Given the description of an element on the screen output the (x, y) to click on. 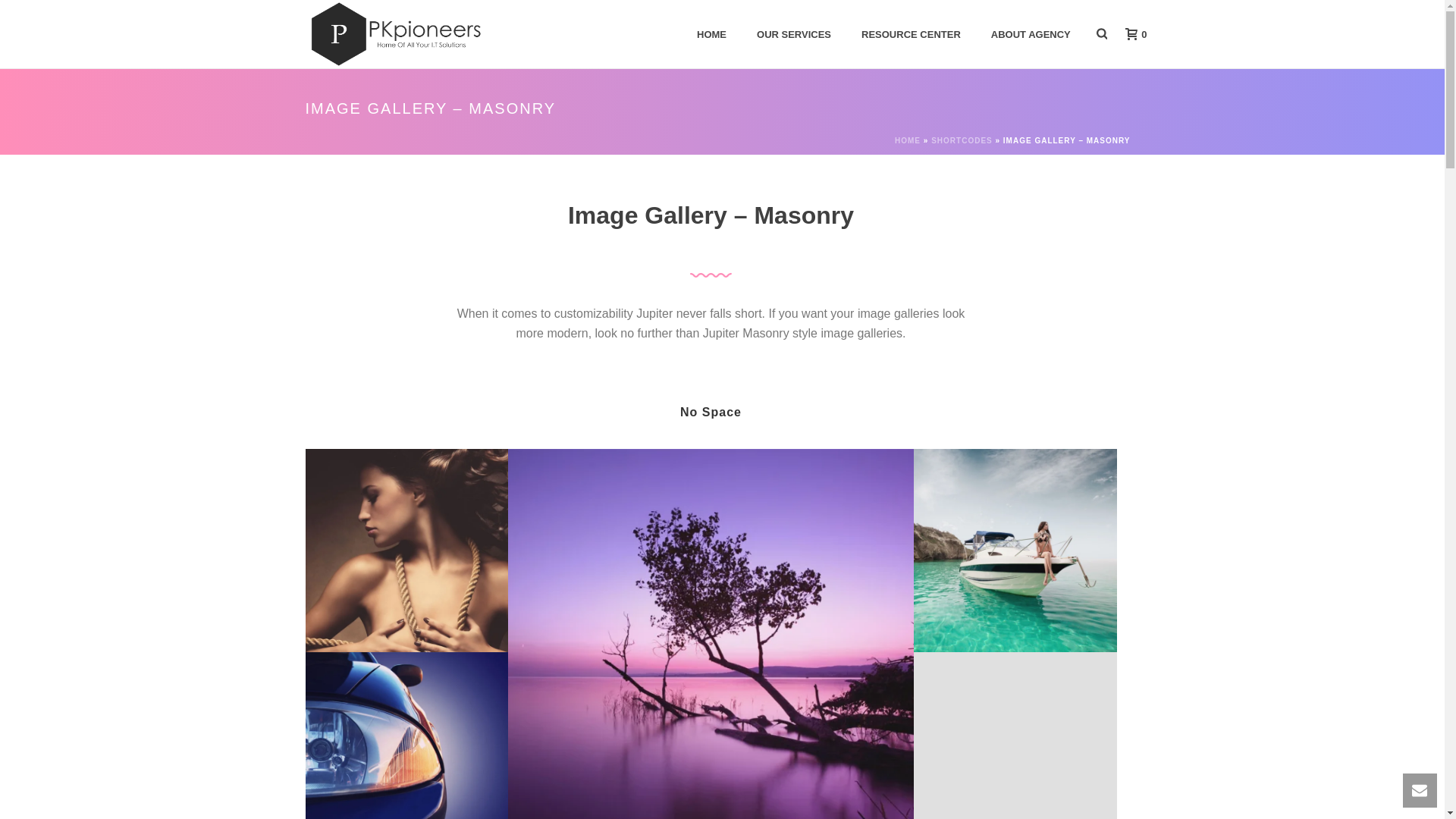
SHORTCODES (961, 140)
RESOURCE CENTER (910, 34)
RESOURCE CENTER (910, 34)
OUR SERVICES (793, 34)
HOME (711, 34)
HOME (907, 140)
ABOUT AGENCY (1030, 34)
OUR SERVICES (793, 34)
HOME (711, 34)
0 (1131, 33)
Home Of All Your I.T Solutions (393, 33)
ABOUT AGENCY (1030, 34)
